Given the description of an element on the screen output the (x, y) to click on. 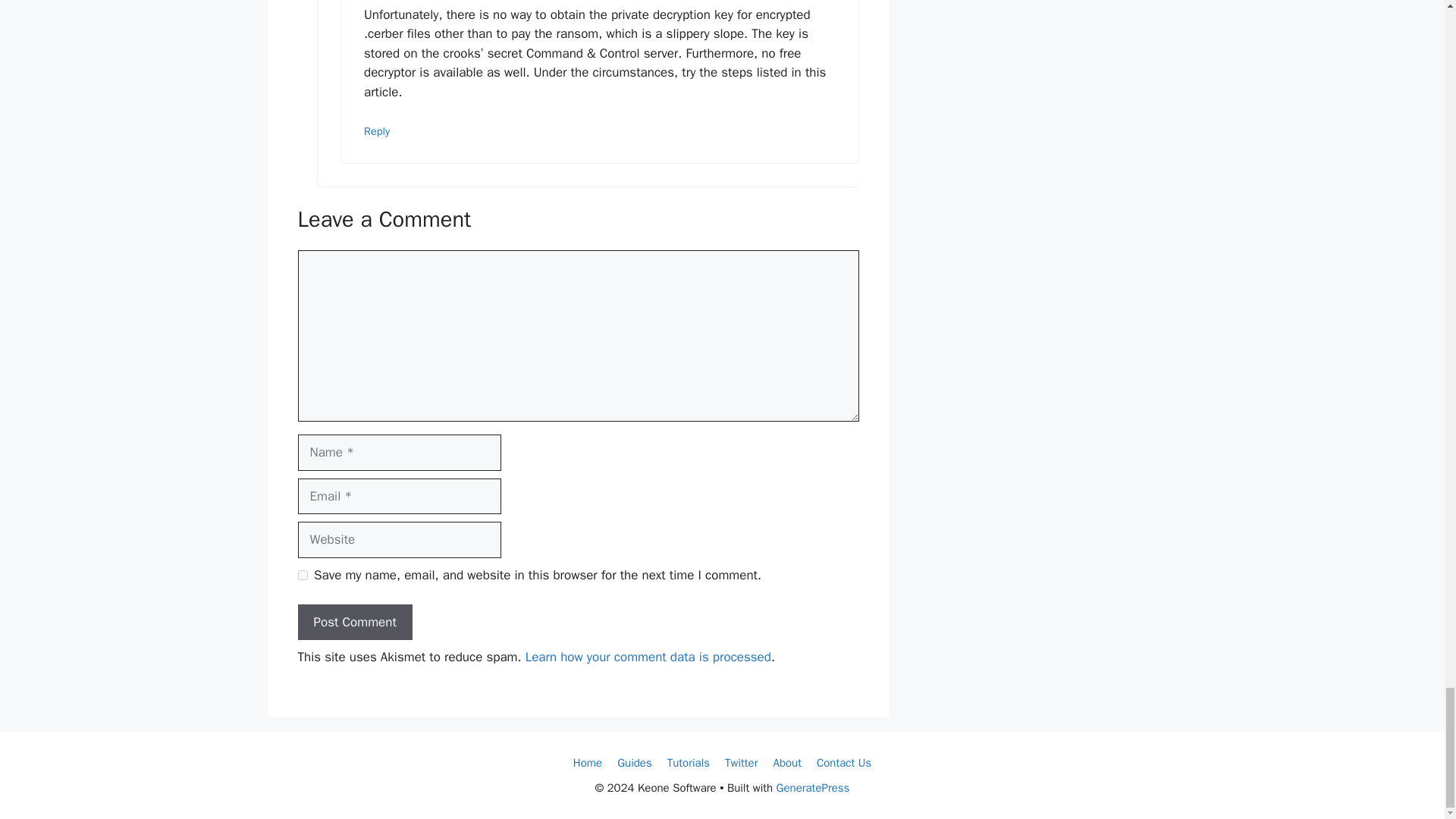
Post Comment (354, 622)
yes (302, 574)
Reply (377, 131)
Post Comment (354, 622)
Learn how your comment data is processed (648, 657)
